Given the description of an element on the screen output the (x, y) to click on. 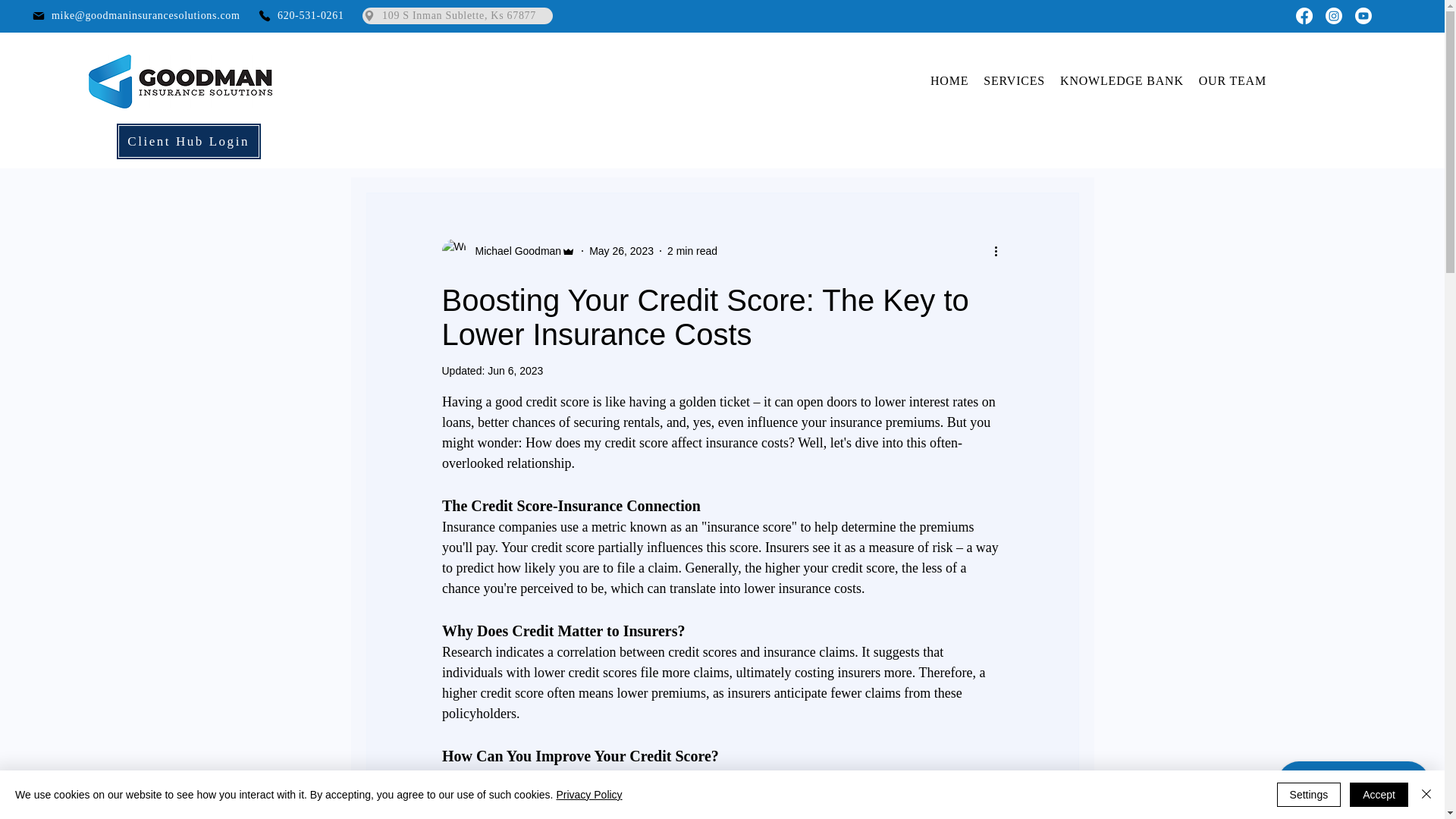
SERVICES (1013, 80)
Michael Goodman (512, 250)
OUR TEAM (1232, 80)
May 26, 2023 (621, 250)
HOME (949, 80)
Client Hub Login (189, 140)
2 min read (691, 250)
KNOWLEDGE BANK (1121, 80)
620-531-0261 (306, 15)
Jun 6, 2023 (515, 370)
109 S Inman Sublette, Ks 67877 (457, 15)
